Given the description of an element on the screen output the (x, y) to click on. 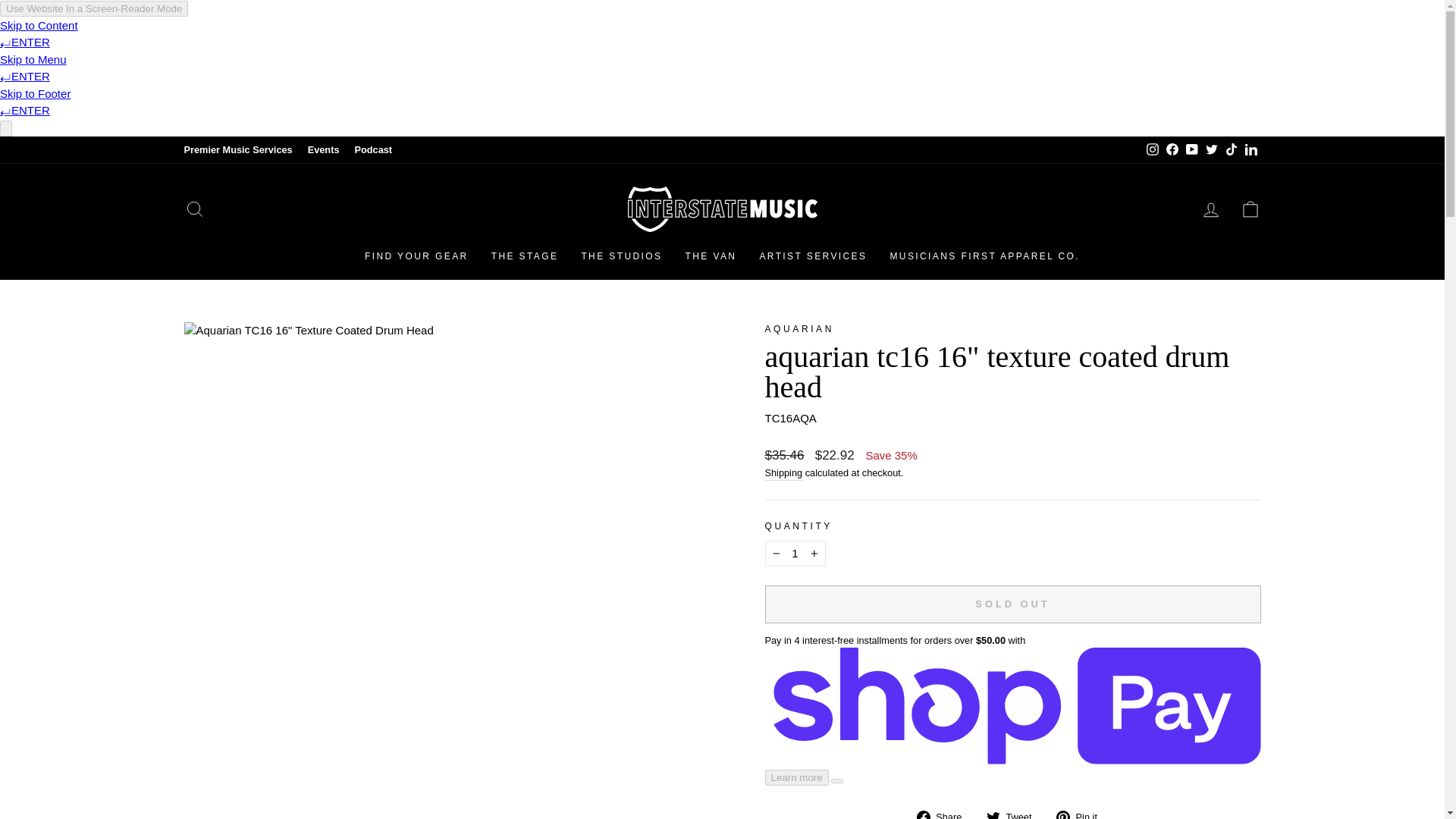
Pin on Pinterest (1082, 813)
1 (794, 553)
Interstate Music on LinkedIn (1250, 149)
Interstate Music on YouTube (1190, 149)
Events (323, 149)
Premier Music Services (237, 149)
Interstate Music on Instagram (1151, 149)
Aquarian (798, 328)
Interstate Music on Twitter (1211, 149)
Share on Facebook (944, 813)
Tweet on Twitter (1014, 813)
Interstate Music on Facebook (1170, 149)
Interstate Music on TikTok (1230, 149)
